Given the description of an element on the screen output the (x, y) to click on. 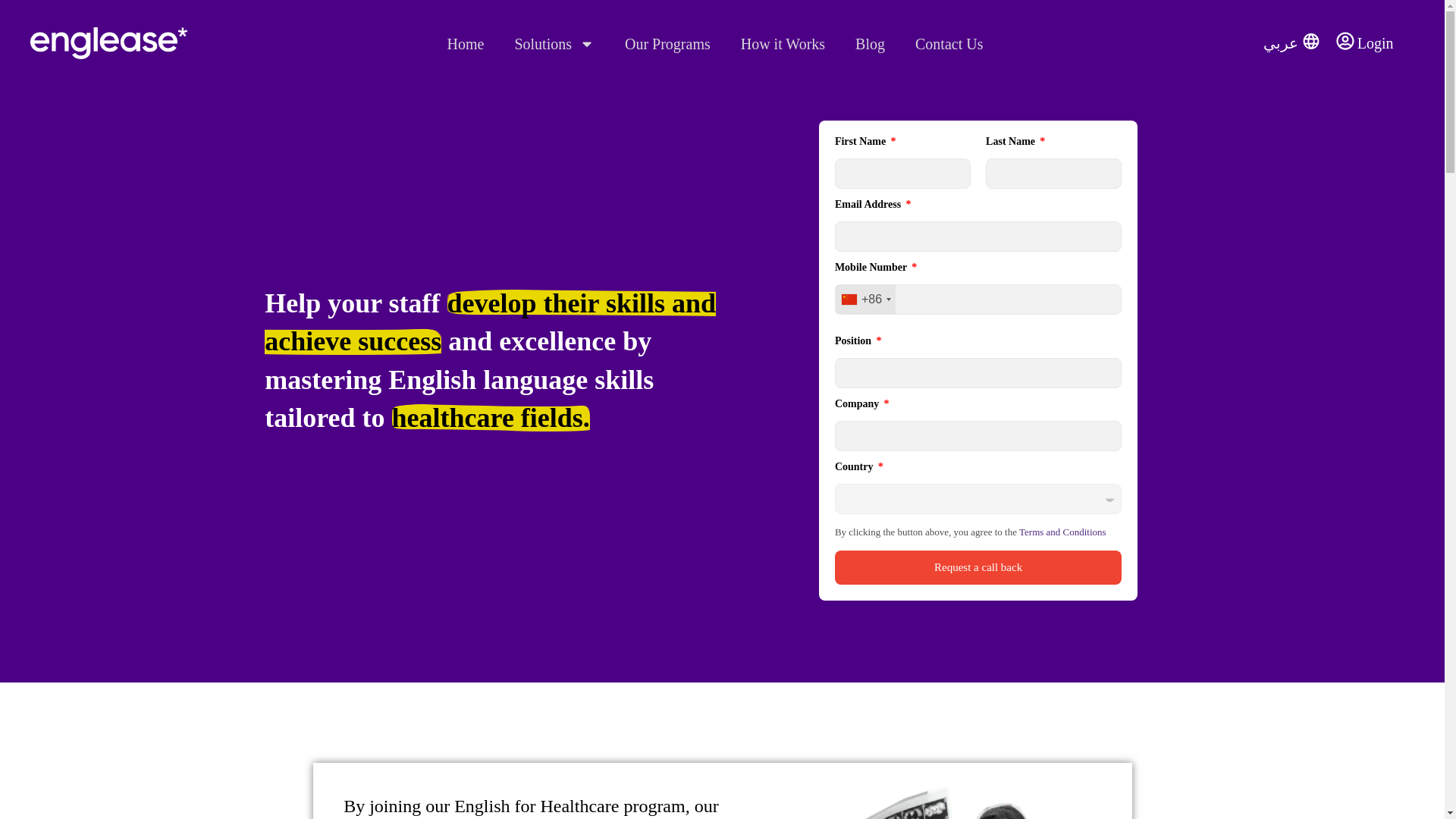
Home (465, 42)
Blog (869, 42)
How it Works (782, 42)
Contact Us (948, 42)
Solutions (554, 42)
Login (1374, 43)
Our Programs (667, 42)
